Given the description of an element on the screen output the (x, y) to click on. 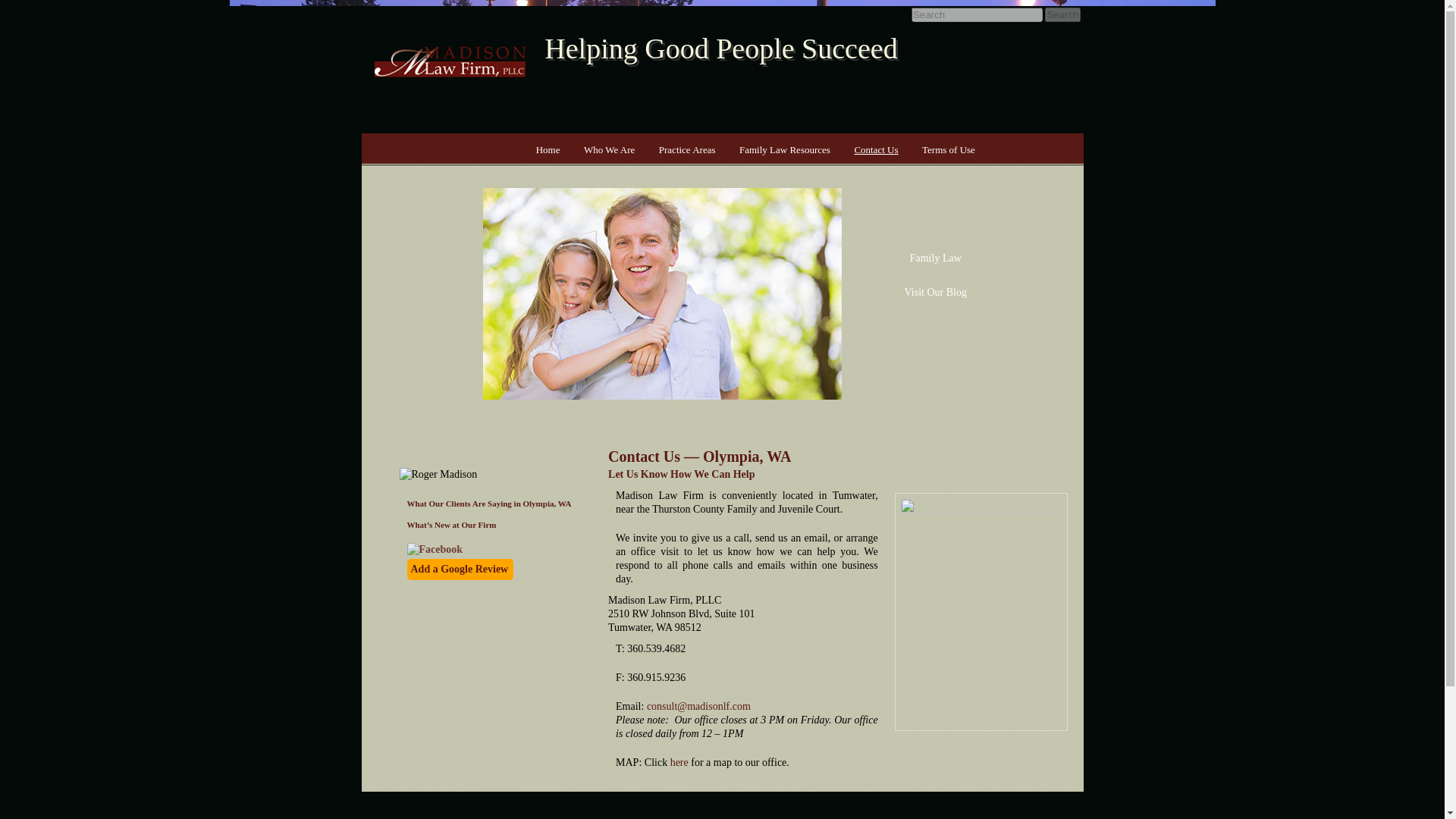
Contact Us (877, 149)
Terms of Use (948, 149)
Who We Are (609, 149)
 Facebook (434, 549)
Search (1062, 14)
Search (1062, 14)
Family Law Resources (783, 149)
Home (548, 149)
Practice Areas (686, 149)
